Given the description of an element on the screen output the (x, y) to click on. 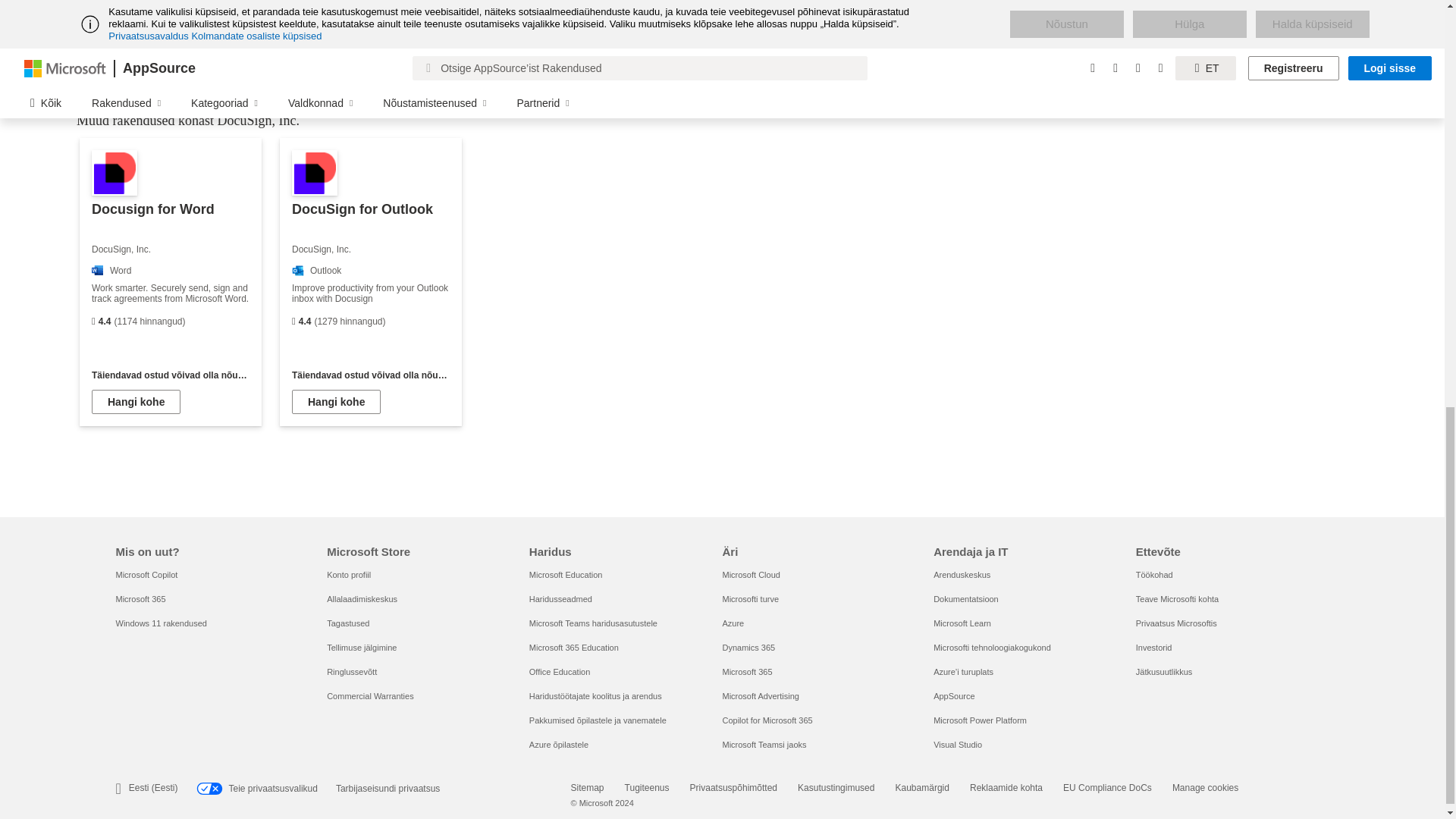
Microsoft Copilot (146, 574)
Windows 11 rakendused (160, 623)
hinnangud (93, 321)
Konto profiil (348, 574)
Hangi kohe (336, 401)
Docusign for Word (171, 281)
Microsoft 365 (140, 598)
DocuSign for Outlook (370, 281)
Hangi kohe (135, 401)
hinnangud (293, 321)
